Given the description of an element on the screen output the (x, y) to click on. 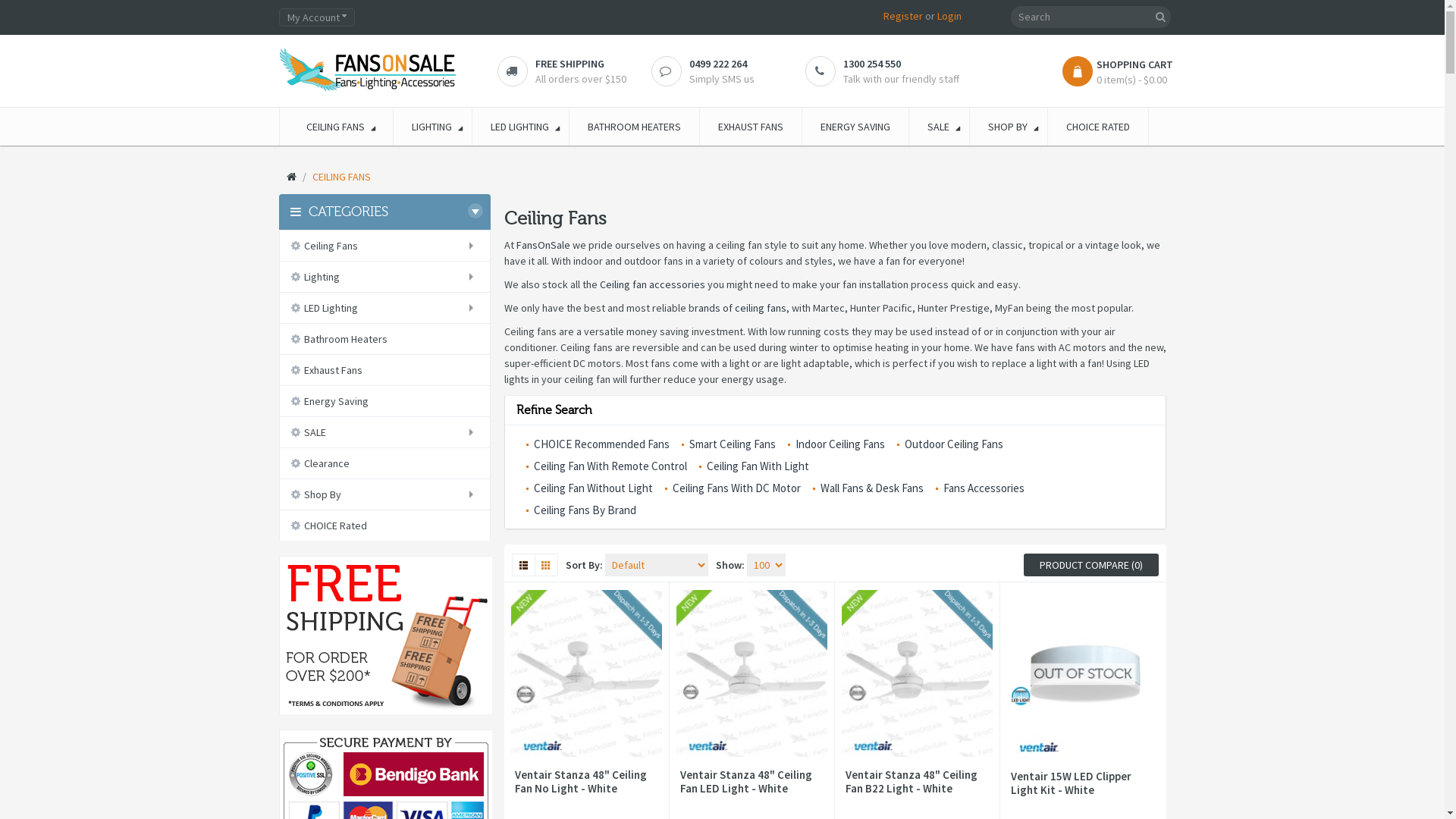
CEILING FANS Element type: text (341, 176)
SALE Element type: text (384, 432)
Energy Saving Element type: text (384, 400)
CEILING FANS Element type: text (336, 126)
FansOnSale Element type: text (542, 244)
0 item(s) - $0.00 Element type: text (1125, 79)
EXHAUST FANS Element type: text (750, 126)
LED Lighting Element type: text (384, 307)
Ceiling Fan With Light Element type: text (754, 465)
PRODUCT COMPARE (0) Element type: text (1090, 564)
Fans Accessories Element type: text (979, 487)
CHOICE Rated Element type: text (384, 525)
Outdoor Ceiling Fans Element type: text (949, 443)
Ceiling Fans By Brand Element type: text (581, 509)
Ventair 15W LED Clipper Light Kit - White Element type: text (1082, 783)
Bathroom Heaters Element type: text (384, 338)
Register Element type: text (902, 15)
Clearance Element type: text (384, 463)
Lighting Element type: text (384, 276)
CHOICE Recommended Fans Element type: text (597, 443)
1300 254 550 Element type: text (871, 63)
CHOICE RATED Element type: text (1098, 126)
Ceiling Fan Without Light Element type: text (589, 487)
Ceiling Fans Element type: text (384, 245)
My Account Element type: text (316, 17)
Ceiling Fans With DC Motor Element type: text (732, 487)
0499 222 264 Element type: text (717, 63)
Shop By Element type: text (384, 494)
Ceiling Fan With Remote Control Element type: text (606, 465)
Ventair Stanza 48" Ceiling Fan No Light - White Element type: text (585, 781)
ENERGY SAVING Element type: text (855, 126)
FREE SHIPPING Element type: text (569, 63)
rands of ceiling fans Element type: text (740, 306)
SHOP BY Element type: text (1008, 126)
Indoor Ceiling Fans Element type: text (835, 443)
Exhaust Fans Element type: text (384, 369)
Wall Fans & Desk Fans Element type: text (867, 487)
Login Element type: text (949, 15)
Ceiling fan accessories Element type: text (651, 284)
LIGHTING Element type: text (431, 126)
Ventair Stanza 48" Ceiling Fan LED Light - White Element type: text (751, 781)
SALE Element type: text (938, 126)
Ventair Stanza 48" Ceiling Fan B22 Light - White Element type: text (916, 781)
BATHROOM HEATERS Element type: text (633, 126)
LED LIGHTING Element type: text (519, 126)
Smart Ceiling Fans Element type: text (727, 443)
